Given the description of an element on the screen output the (x, y) to click on. 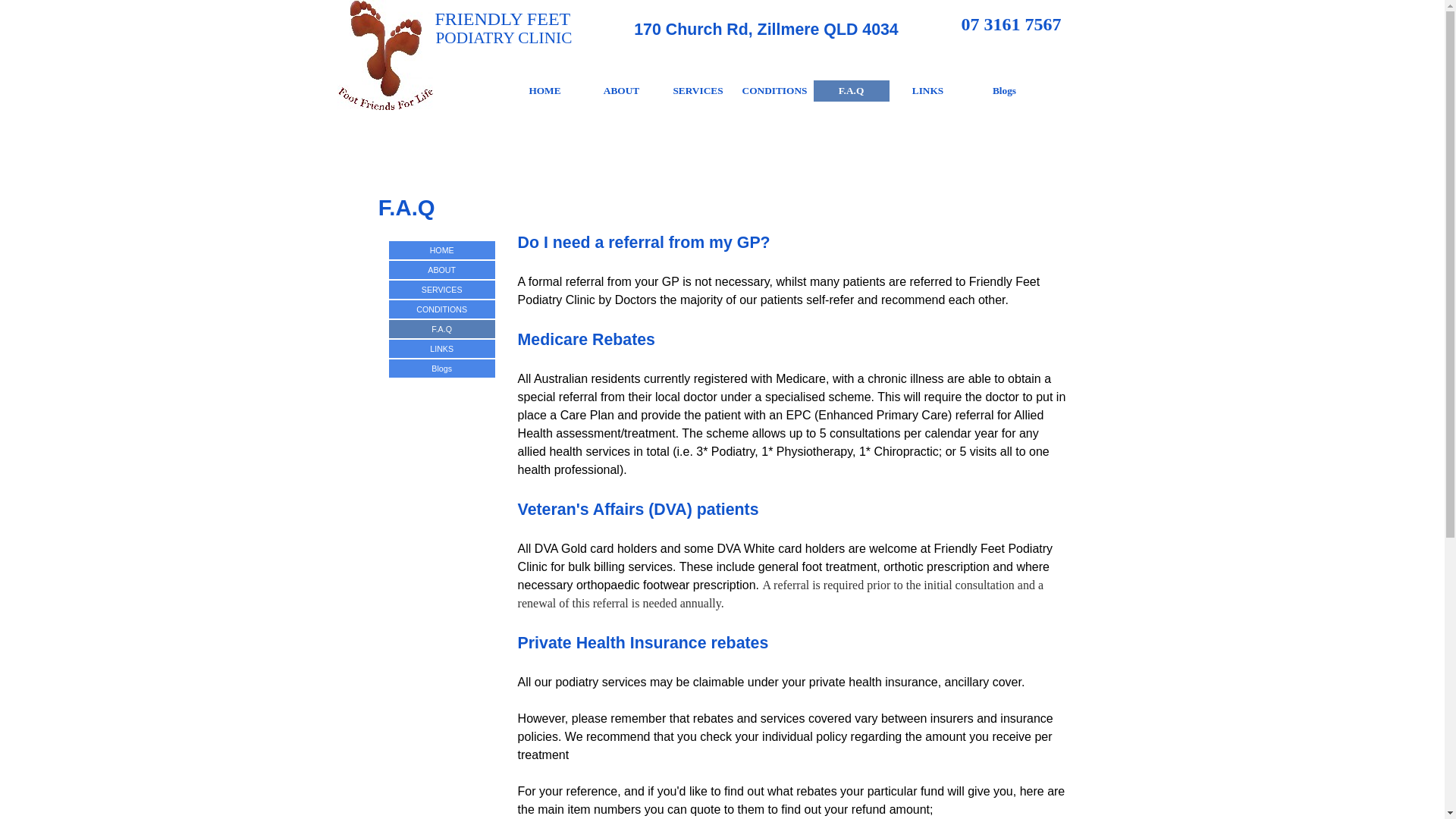
LINKS Element type: text (927, 90)
07 3161 7567 Element type: text (1011, 24)
HOME Element type: text (441, 250)
F.A.Q Element type: text (441, 329)
LINKS Element type: text (441, 348)
FFPod Logo Element type: hover (384, 54)
F.A.Q Element type: text (851, 90)
HOME Element type: text (545, 90)
